Given the description of an element on the screen output the (x, y) to click on. 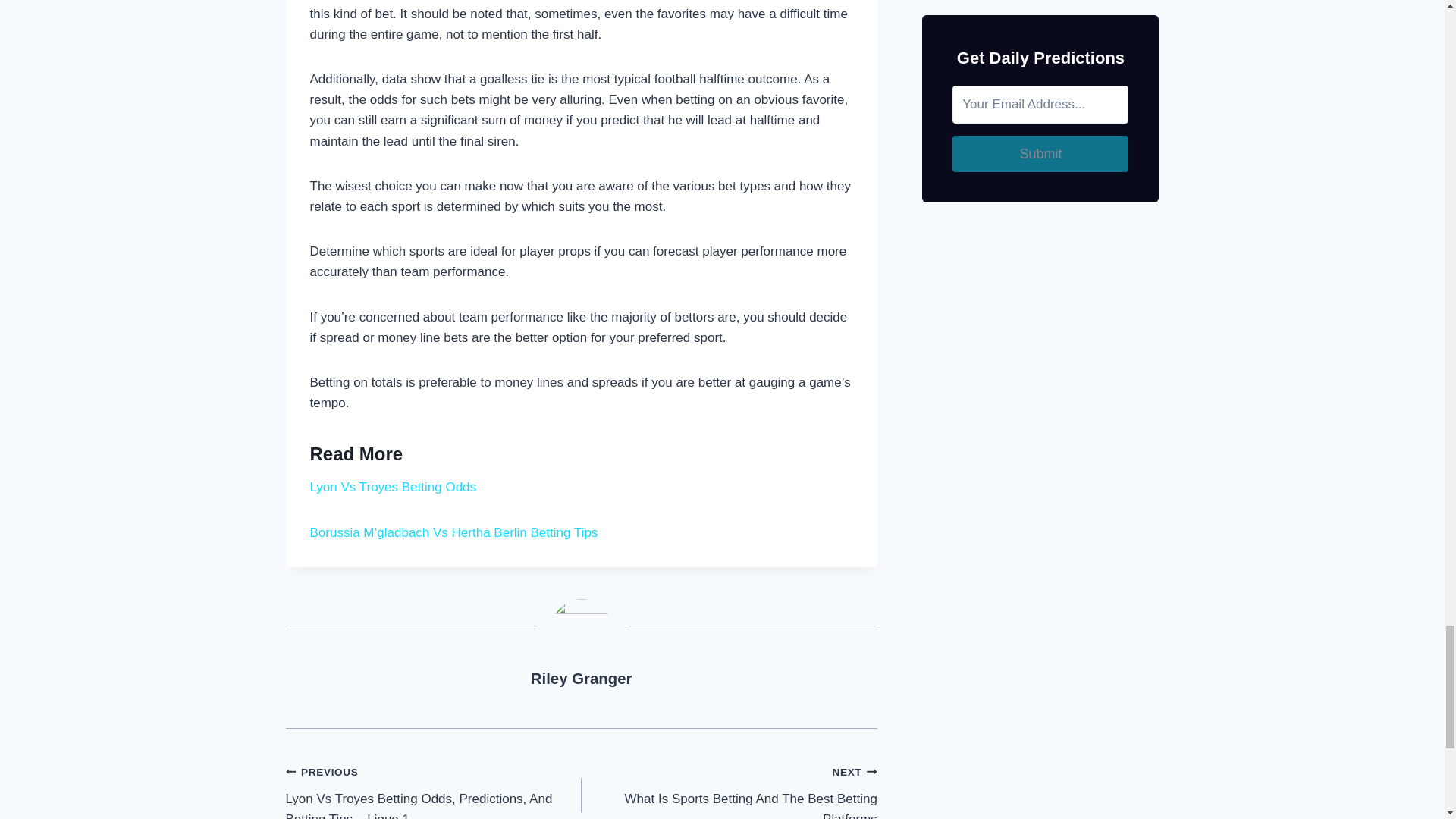
Riley Granger (728, 790)
Lyon Vs Troyes Betting Odds (581, 678)
Posts by Riley Granger (392, 486)
